Given the description of an element on the screen output the (x, y) to click on. 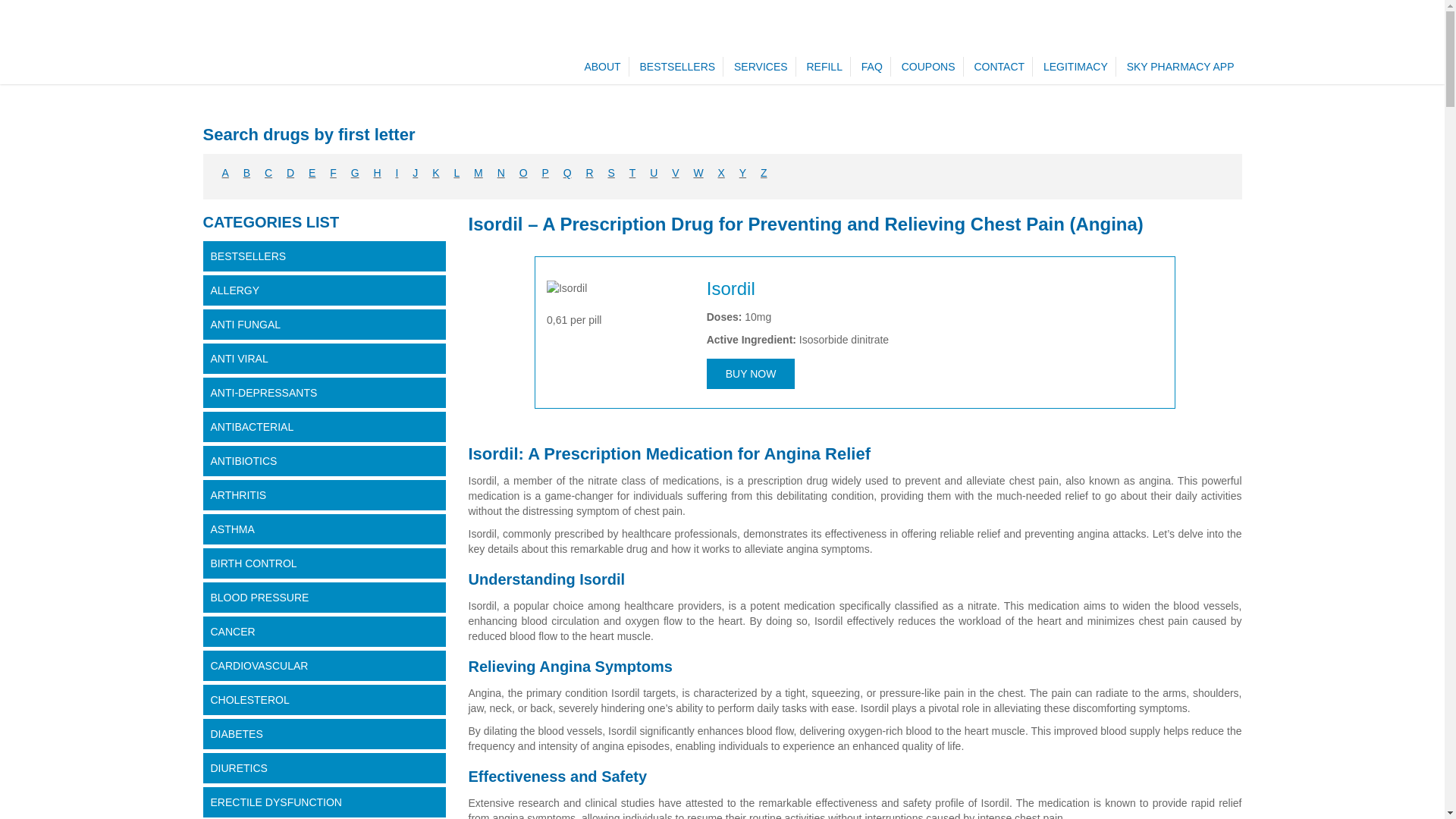
CONTACT (999, 66)
SKY PHARMACY APP (1180, 66)
M (478, 173)
F (333, 173)
K (435, 173)
W (698, 173)
I (395, 173)
Z (763, 173)
R (588, 173)
Y (742, 173)
H (376, 173)
Q (567, 173)
Menu (483, 33)
P (544, 173)
BESTSELLERS (677, 66)
